Given the description of an element on the screen output the (x, y) to click on. 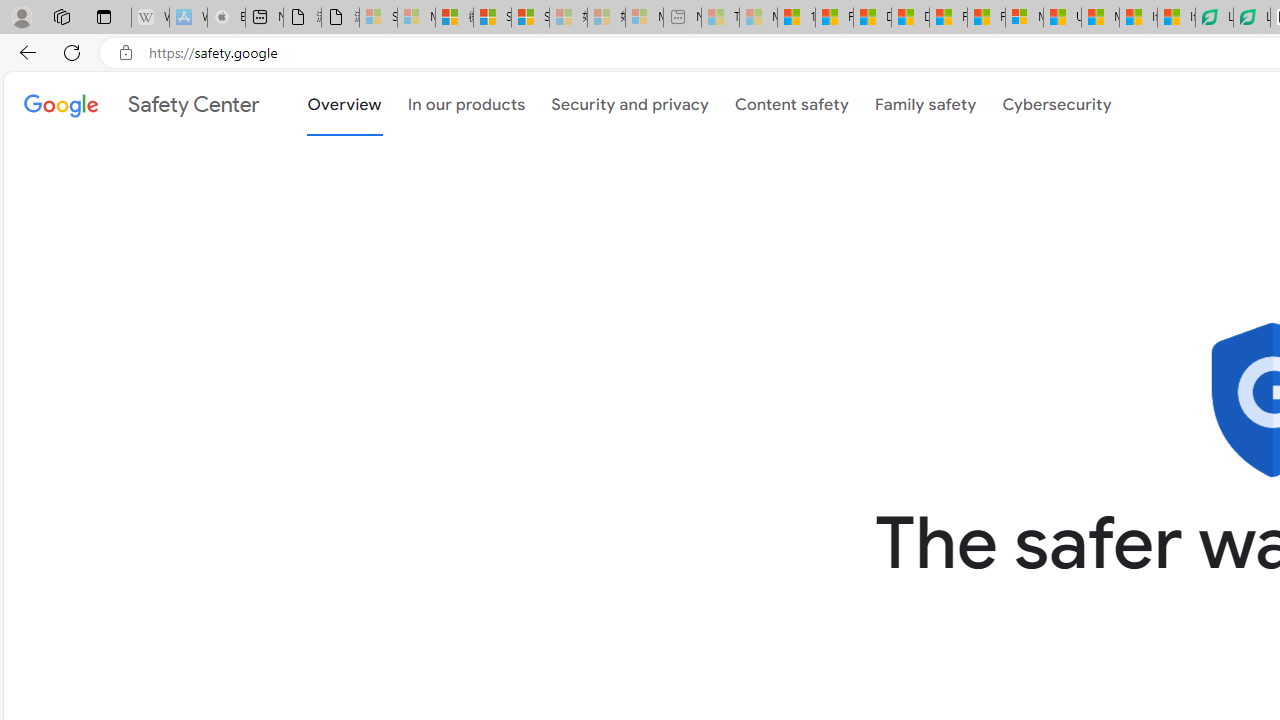
Security and privacy (630, 102)
Buy iPad - Apple - Sleeping (225, 17)
In our products (466, 102)
Family safety (925, 102)
Drinking tea every day is proven to delay biological aging (910, 17)
In our products (466, 103)
